Given the description of an element on the screen output the (x, y) to click on. 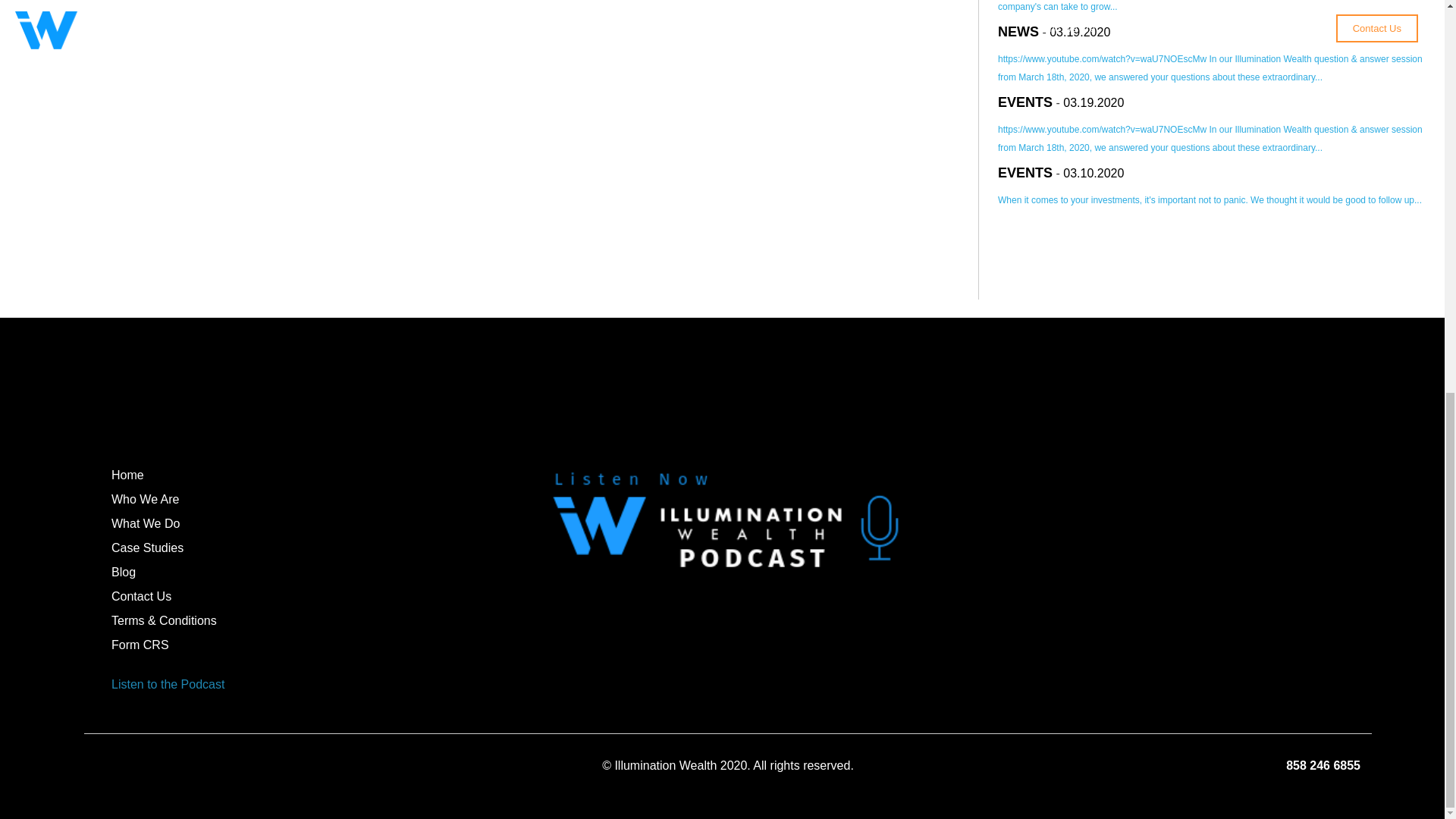
NEWS (1018, 31)
Contact Us (141, 595)
Who We Are (145, 499)
Case Studies (147, 547)
What We Do (145, 522)
EVENTS (1024, 172)
Form CRS (140, 644)
858 246 6855 (1322, 765)
